Given the description of an element on the screen output the (x, y) to click on. 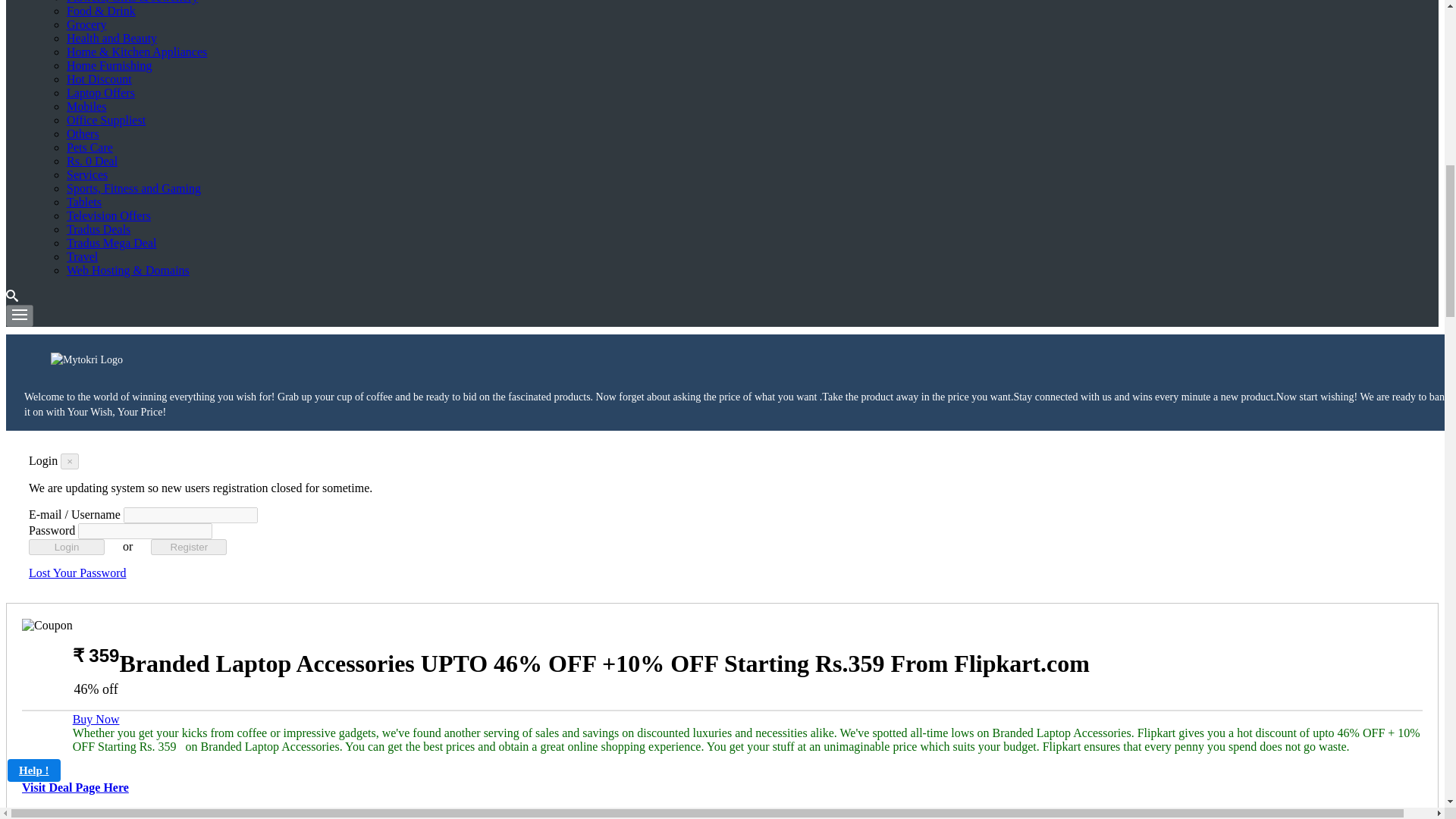
search (11, 295)
menu (19, 314)
